Given the description of an element on the screen output the (x, y) to click on. 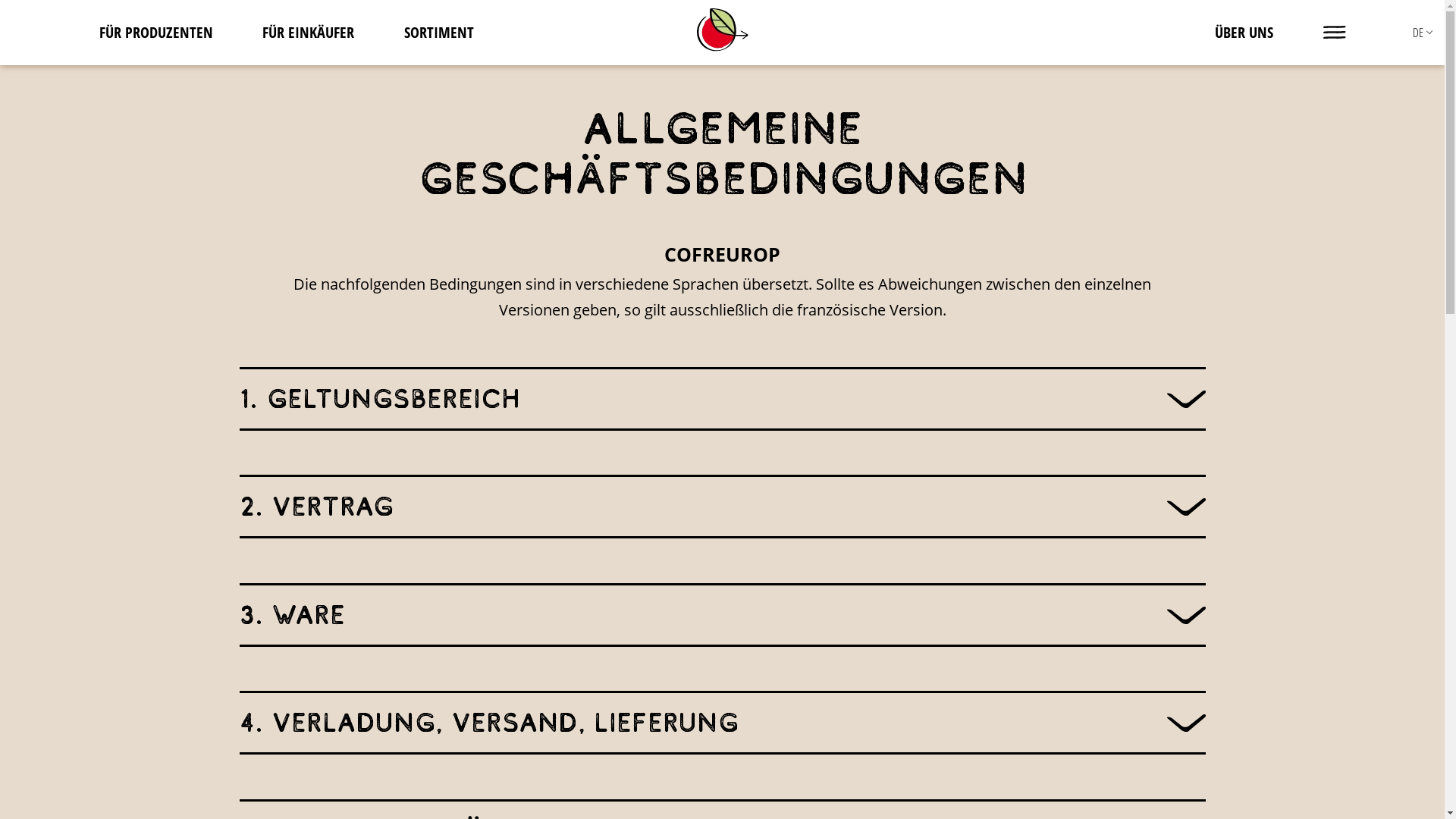
SORTIMENT Element type: text (438, 31)
DE Element type: text (1417, 32)
